Given the description of an element on the screen output the (x, y) to click on. 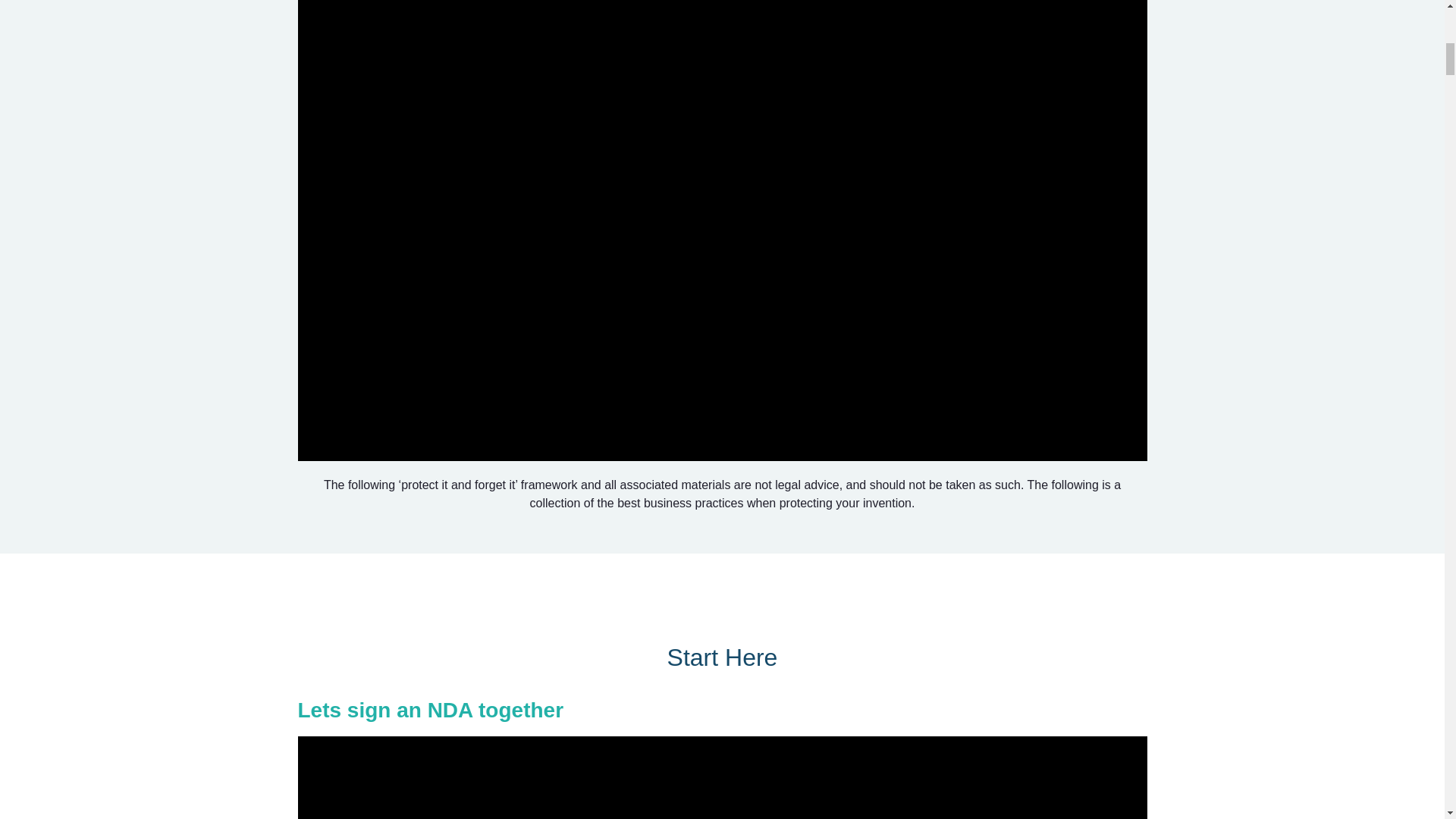
vimeo Video Player (722, 777)
